Given the description of an element on the screen output the (x, y) to click on. 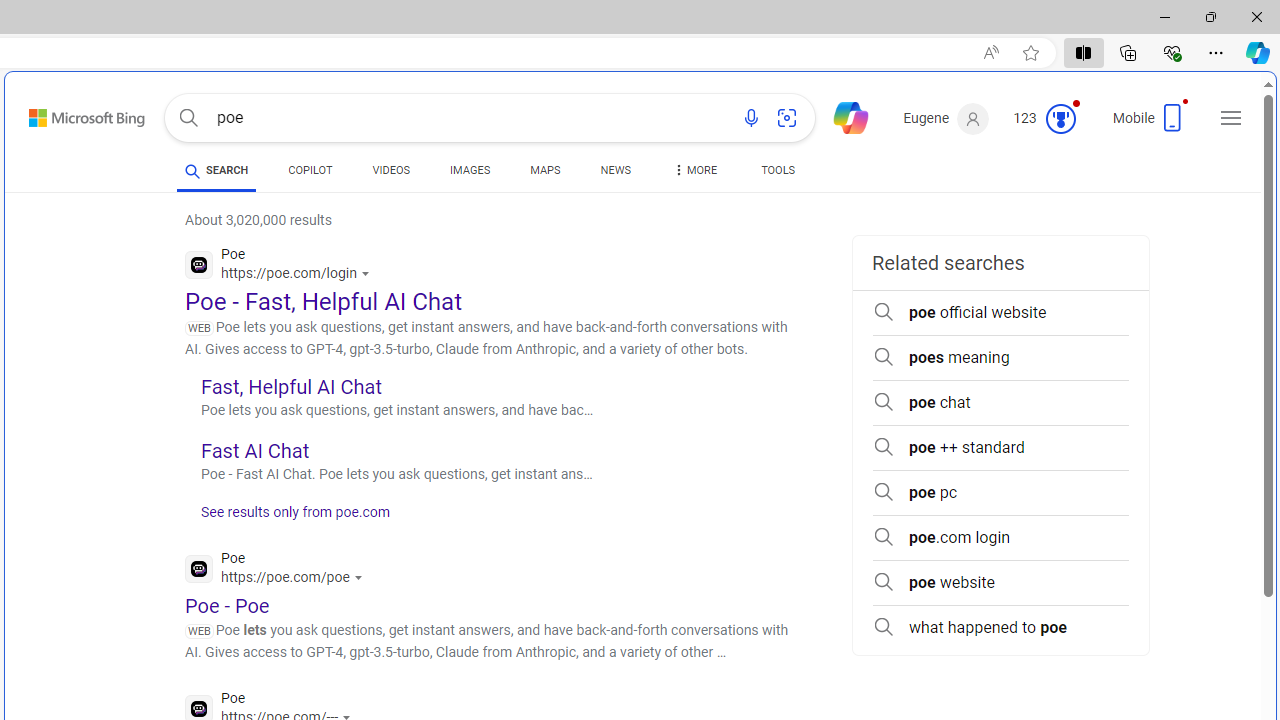
SEARCH (216, 170)
See results only from poe.com (287, 517)
Poe (278, 569)
NEWS (614, 173)
Fast AI Chat (254, 449)
Mobile (1152, 124)
poe chat (1000, 402)
Dropdown Menu (693, 170)
SEARCH (216, 170)
poes meaning (1000, 358)
